Given the description of an element on the screen output the (x, y) to click on. 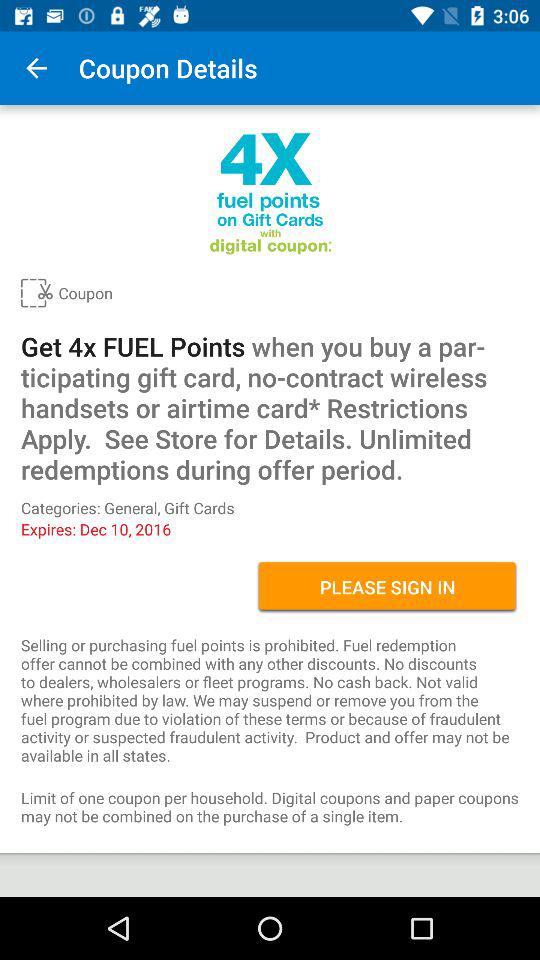
flip until the please sign in (387, 587)
